Given the description of an element on the screen output the (x, y) to click on. 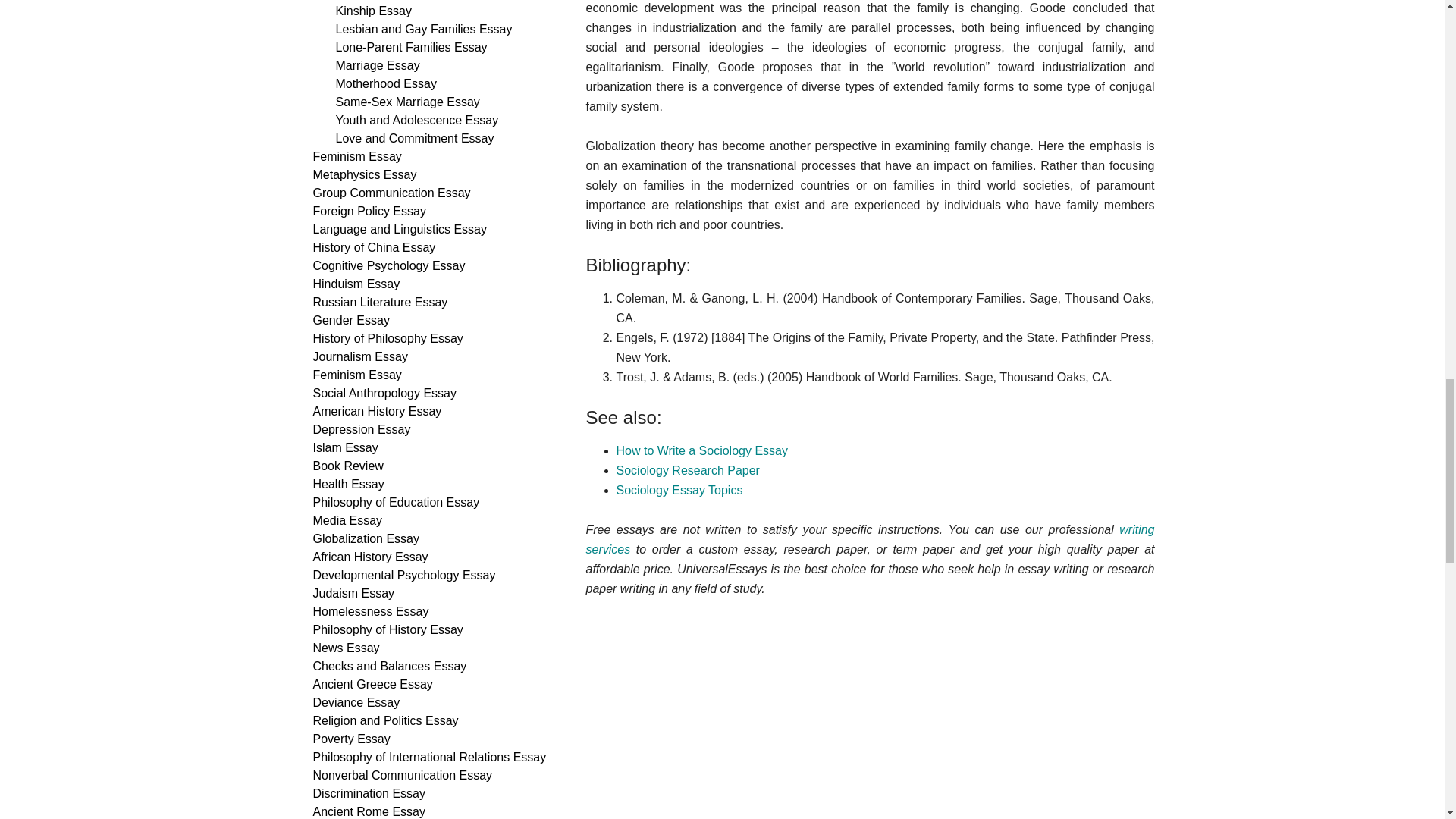
Sociology Research Paper (686, 470)
Sociology Essay Topics (678, 490)
writing services (869, 539)
How to Write a Sociology Essay (701, 450)
